Given the description of an element on the screen output the (x, y) to click on. 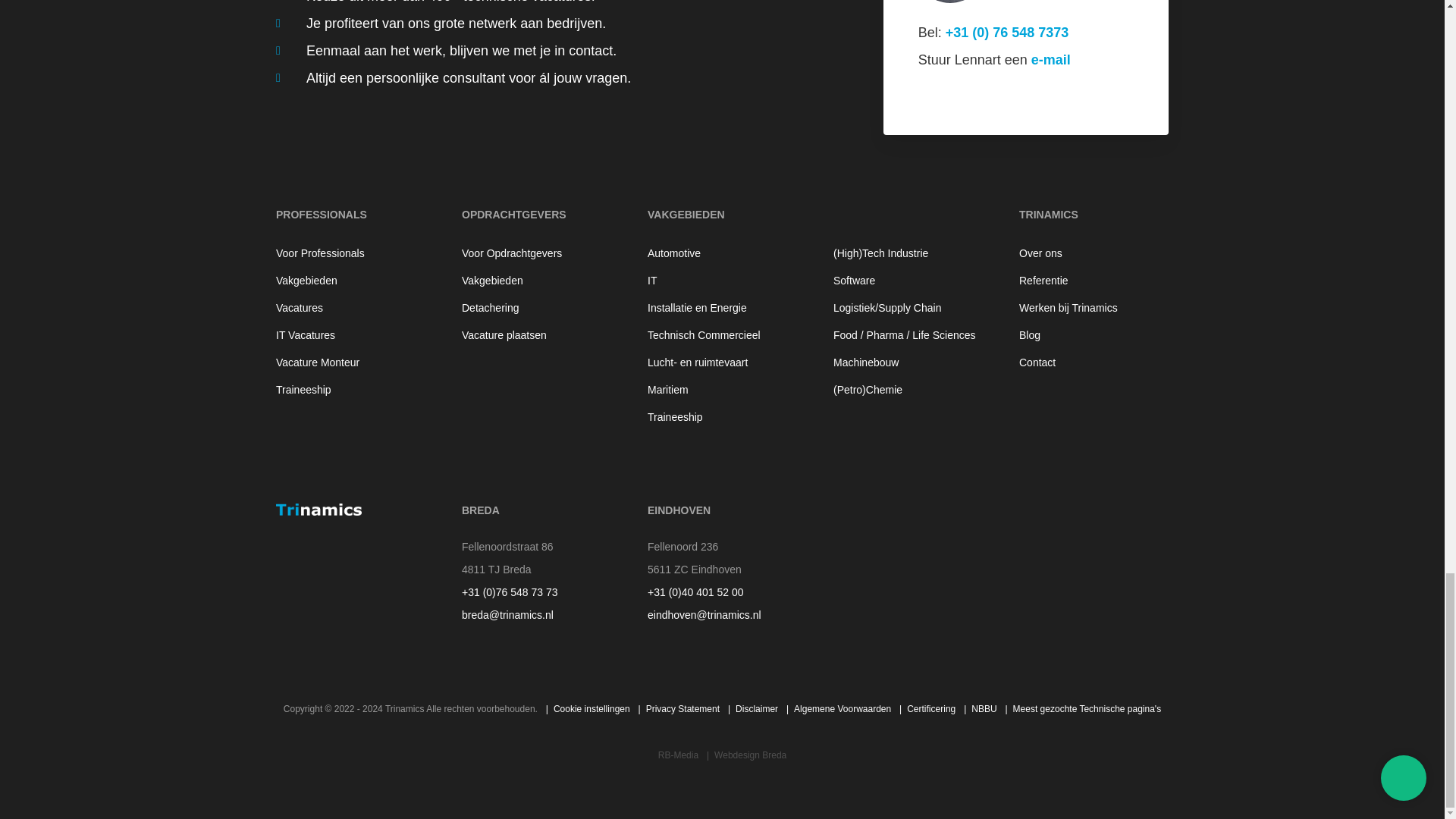
Vacatures (350, 307)
Traineeship (350, 389)
Vacature Monteur (350, 361)
Voor Professionals (350, 252)
Voor Opdrachtgevers (536, 252)
IT Vacatures (350, 334)
Vakgebieden (350, 280)
